Given the description of an element on the screen output the (x, y) to click on. 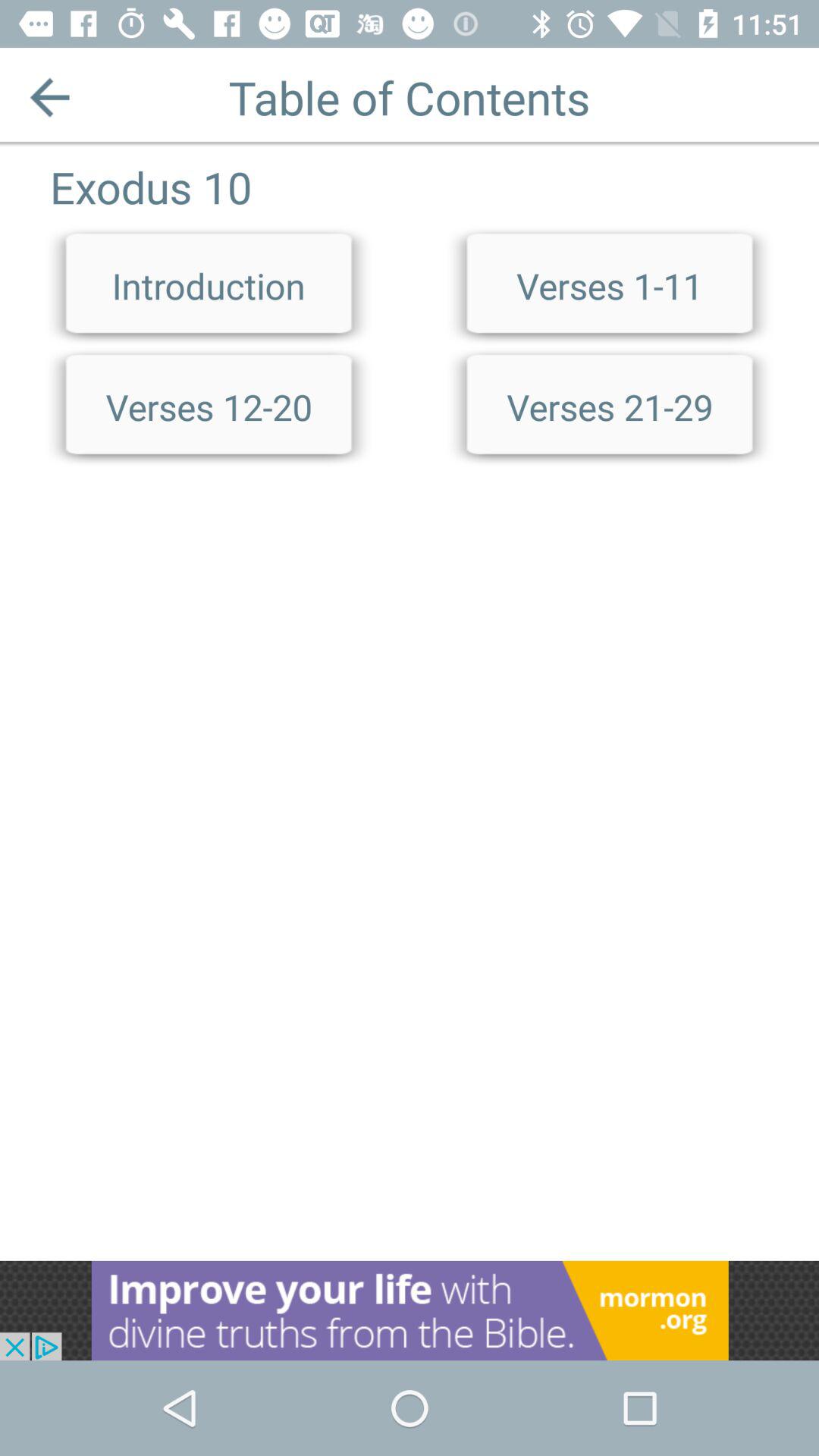
opens a advertisement (409, 1310)
